Given the description of an element on the screen output the (x, y) to click on. 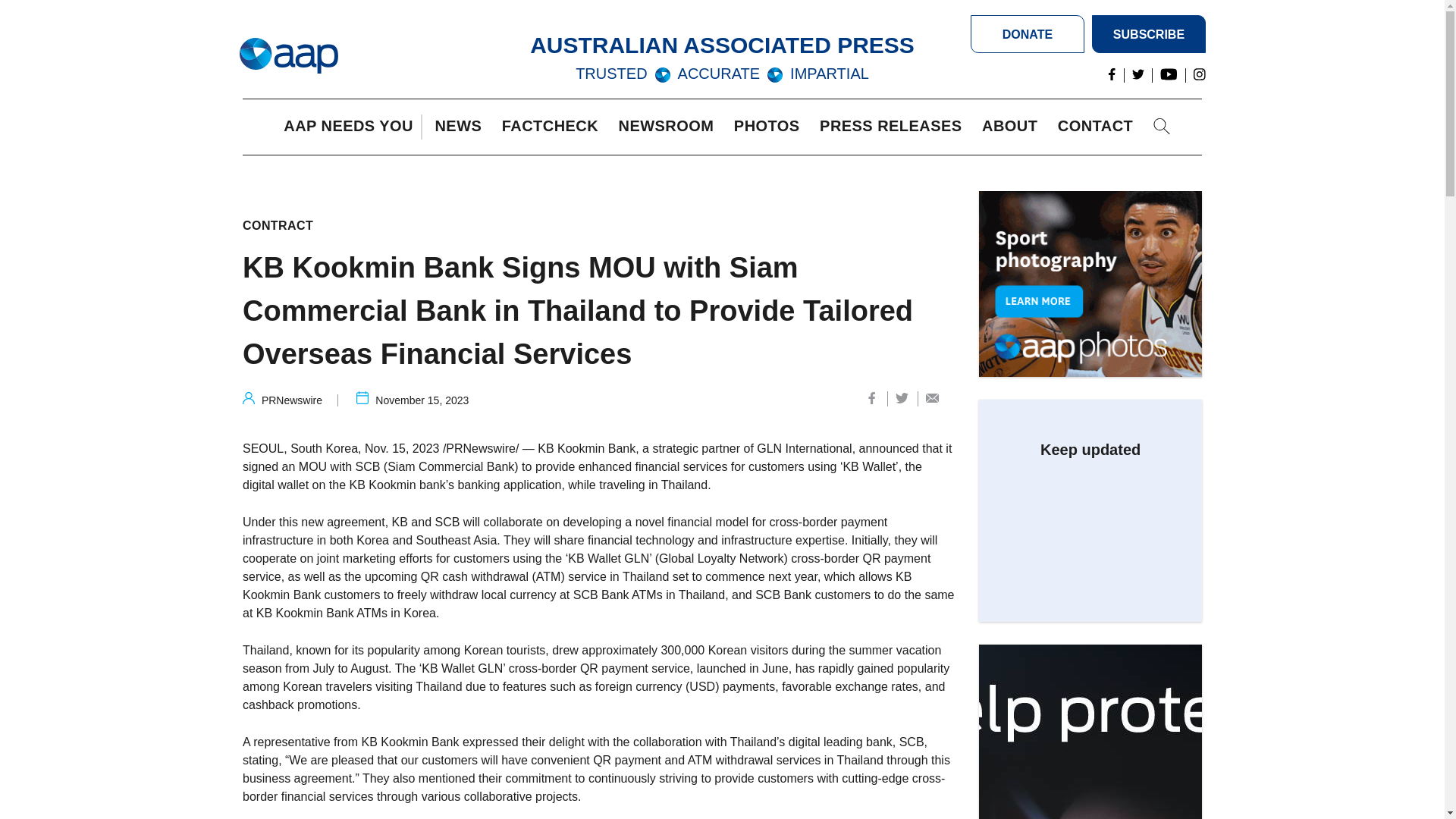
Home (288, 56)
Form 0 (1090, 525)
FACTCHECK (553, 126)
PHOTOS (770, 126)
SUBSCRIBE (1148, 34)
PRESS RELEASES (894, 126)
ABOUT (1013, 126)
AUSTRALIAN ASSOCIATED PRESS (721, 44)
DONATE (1027, 34)
CONTACT (1099, 126)
